Given the description of an element on the screen output the (x, y) to click on. 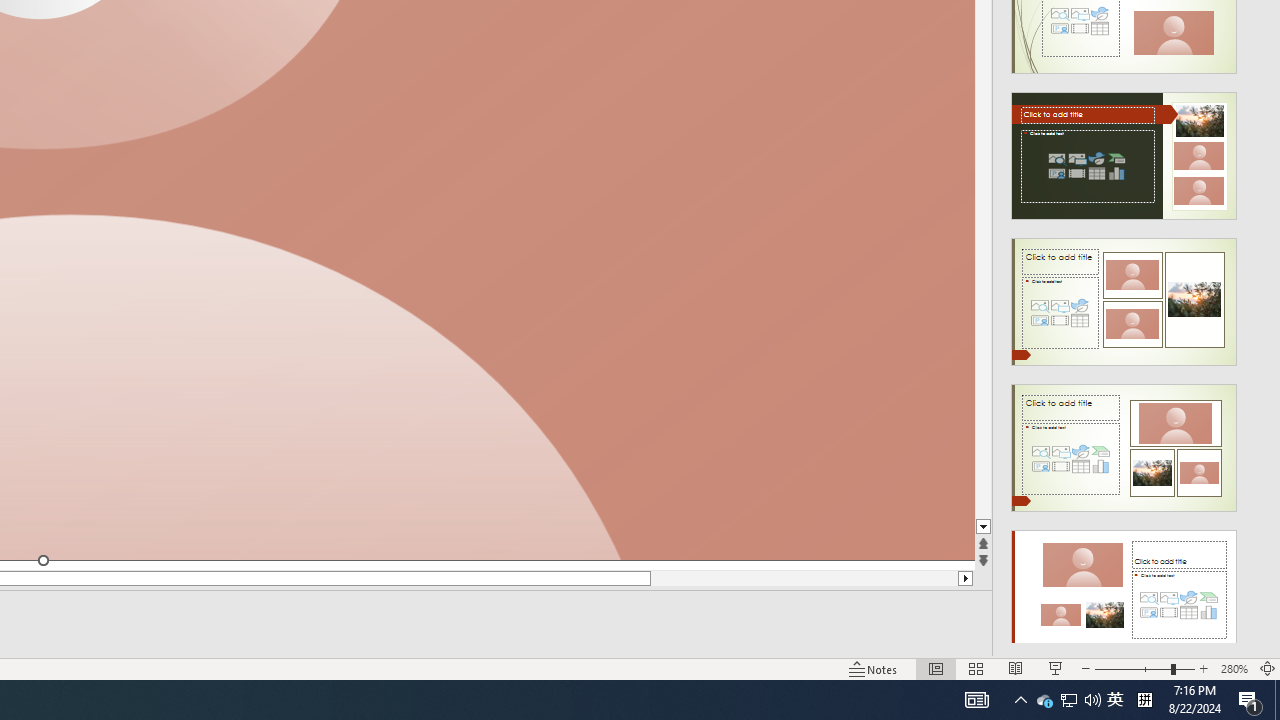
Zoom 280% (1234, 668)
Line down (983, 527)
Page down (983, 283)
Design Idea (1124, 587)
